Given the description of an element on the screen output the (x, y) to click on. 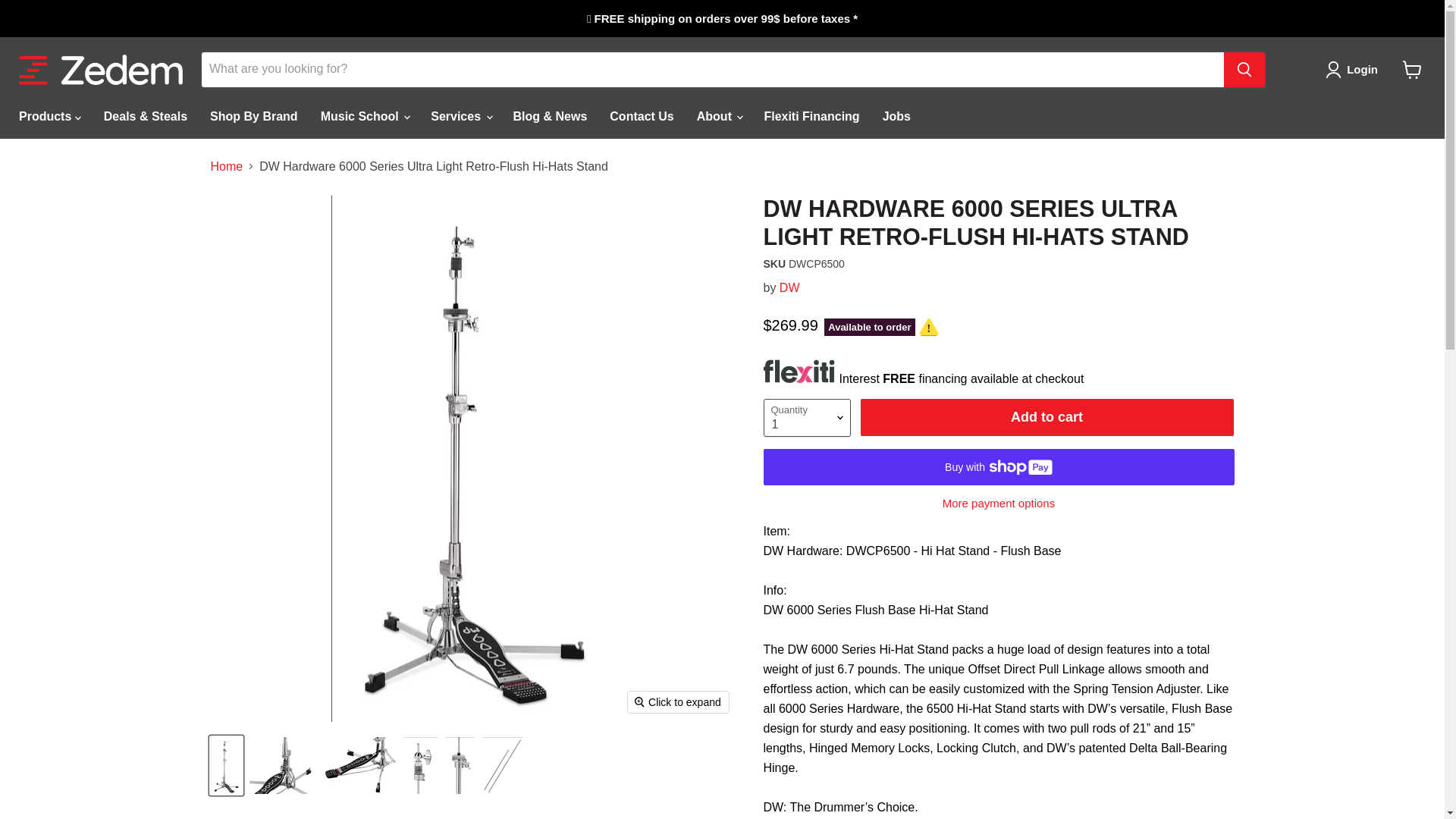
Login (1362, 69)
View cart (1411, 69)
DW (788, 287)
